Given the description of an element on the screen output the (x, y) to click on. 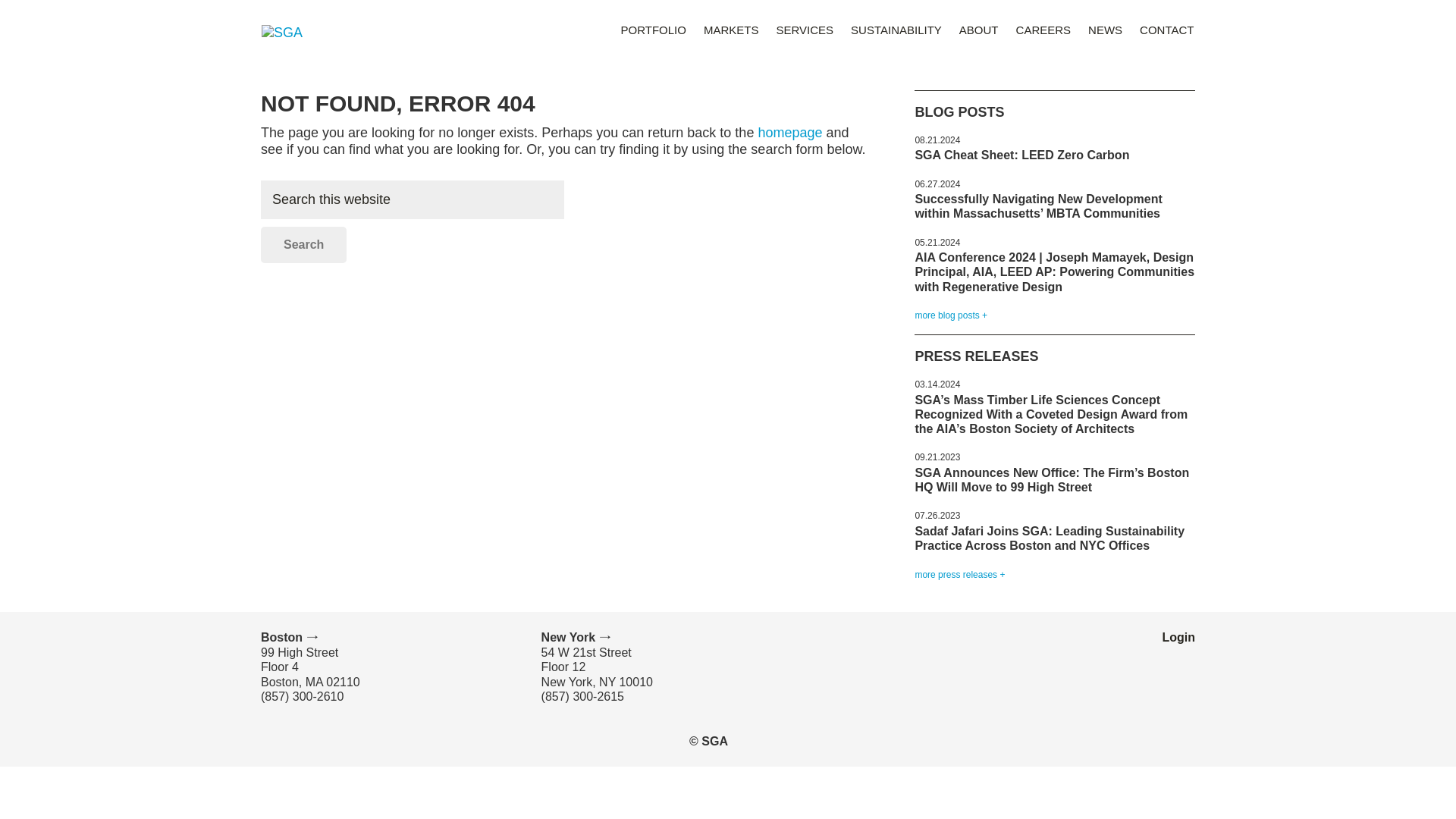
SUSTAINABILITY (896, 29)
homepage (789, 132)
Search (303, 244)
NEWS (1105, 29)
SGA Cheat Sheet: LEED Zero Carbon (1021, 154)
Search (303, 244)
CAREERS (1043, 29)
PORTFOLIO (653, 29)
Press Releases (959, 574)
